Given the description of an element on the screen output the (x, y) to click on. 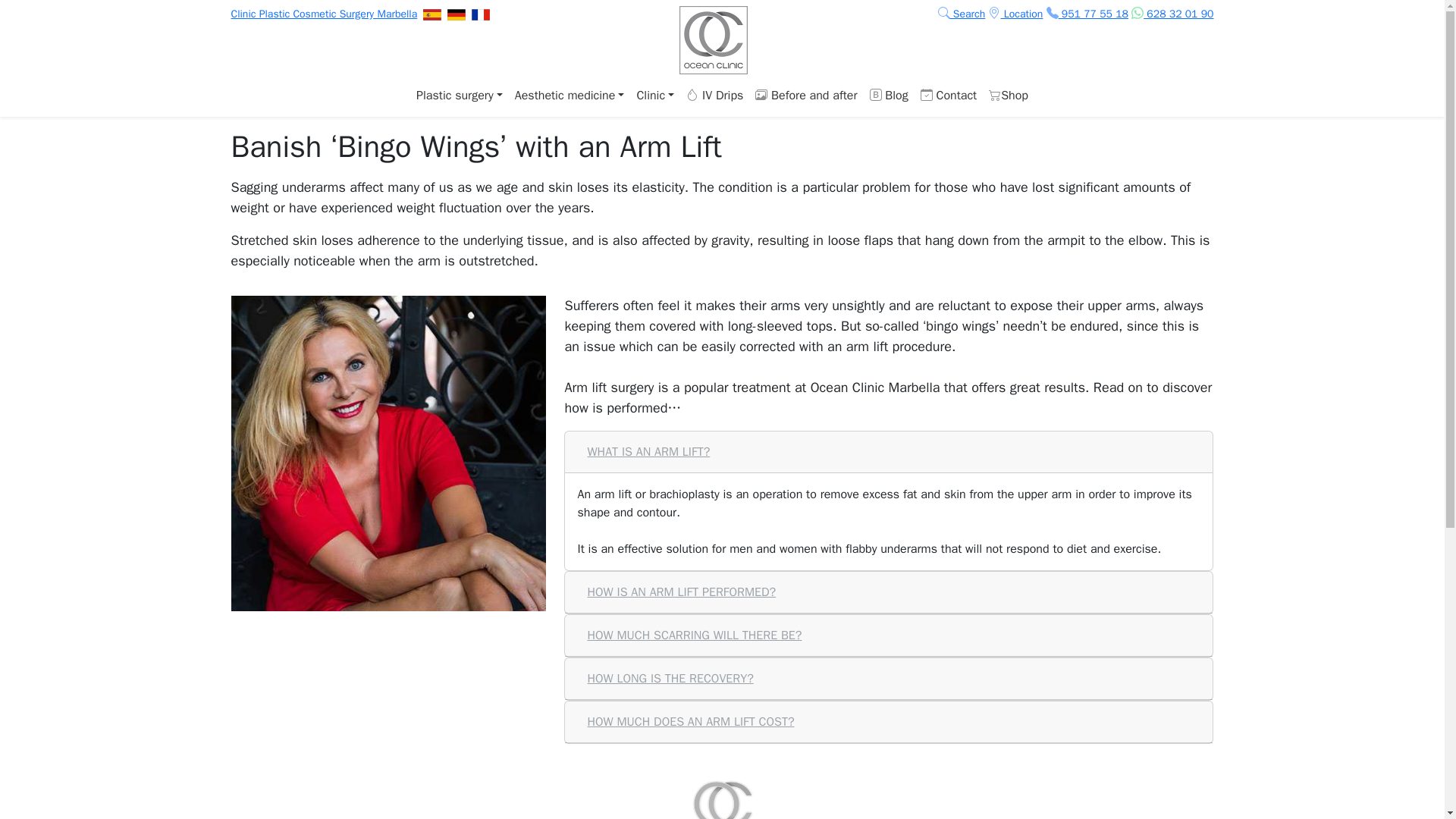
Clinic Plastic Cosmetic Surgery Marbella (323, 13)
628 32 01 90 (1171, 13)
Search (961, 13)
951 77 55 18 (1087, 13)
Plastic surgery (459, 95)
Location (1015, 13)
Suche (961, 13)
